Given the description of an element on the screen output the (x, y) to click on. 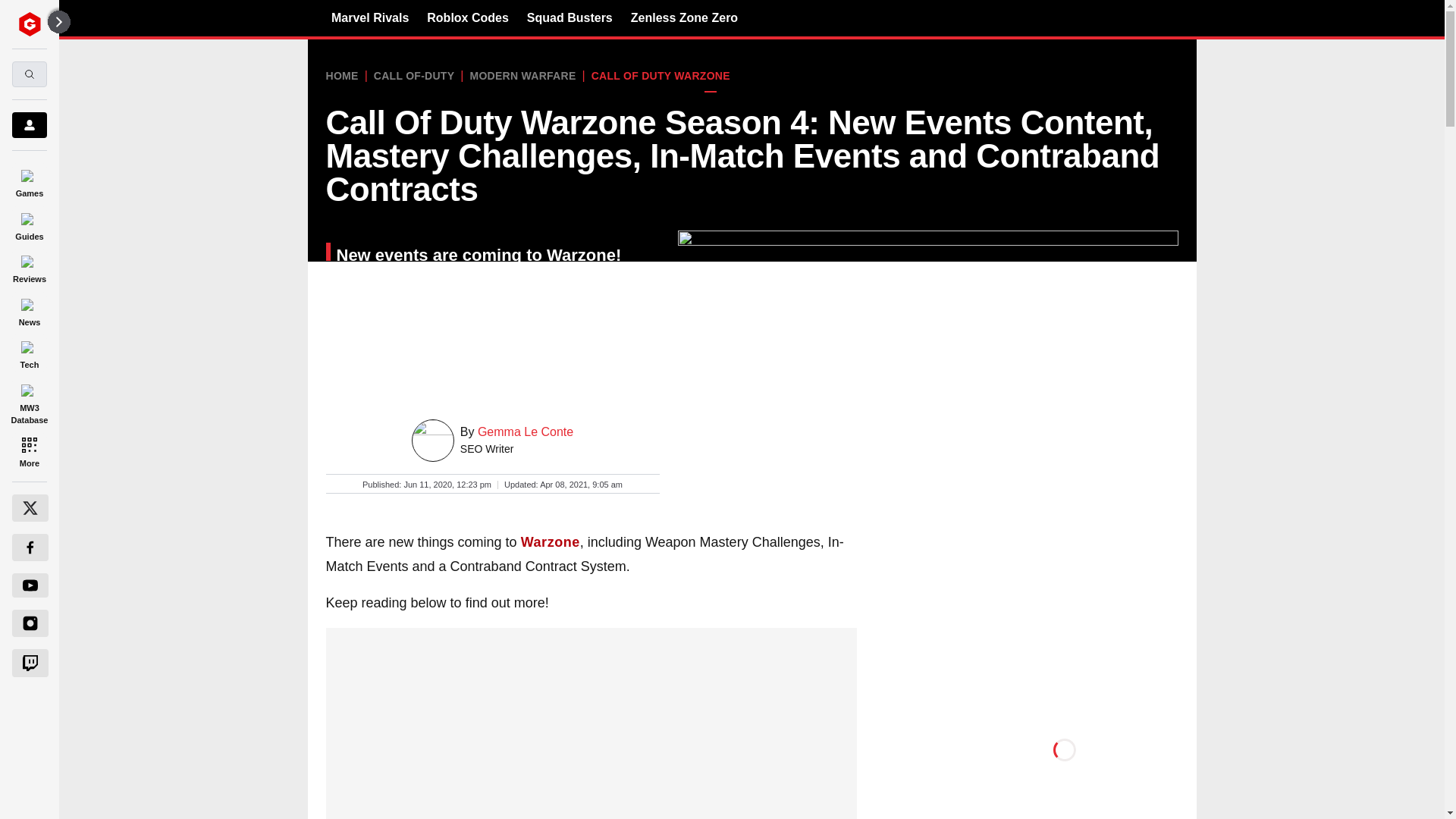
Guides (28, 224)
Squad Busters (569, 18)
Zenless Zone Zero (684, 18)
News (28, 309)
Roblox Codes (467, 18)
Marvel Rivals (370, 18)
Tech (28, 352)
Reviews (28, 266)
Games (28, 180)
More (28, 450)
